Given the description of an element on the screen output the (x, y) to click on. 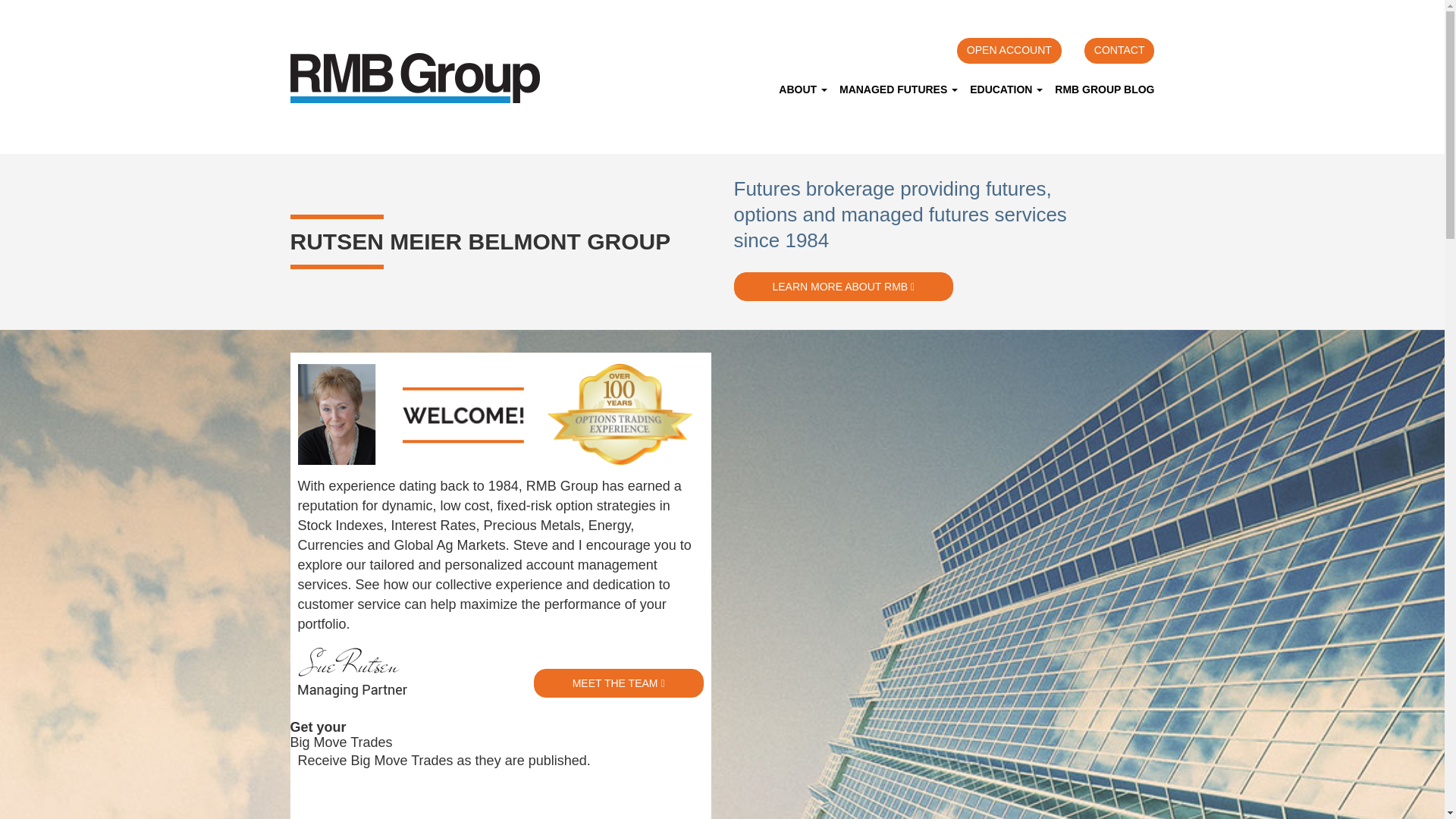
OPEN ACCOUNT (1008, 50)
SET UP YOUR FREE ACCESS (402, 798)
MEET THE TEAM (618, 683)
RMB Group Blog (1101, 89)
Education (1005, 89)
LEARN MORE ABOUT RMB (843, 286)
CONTACT (1119, 50)
Managed Futures (897, 89)
EDUCATION (1005, 89)
ABOUT (802, 89)
About (802, 89)
RMB GROUP BLOG (1101, 89)
MANAGED FUTURES (897, 89)
